Given the description of an element on the screen output the (x, y) to click on. 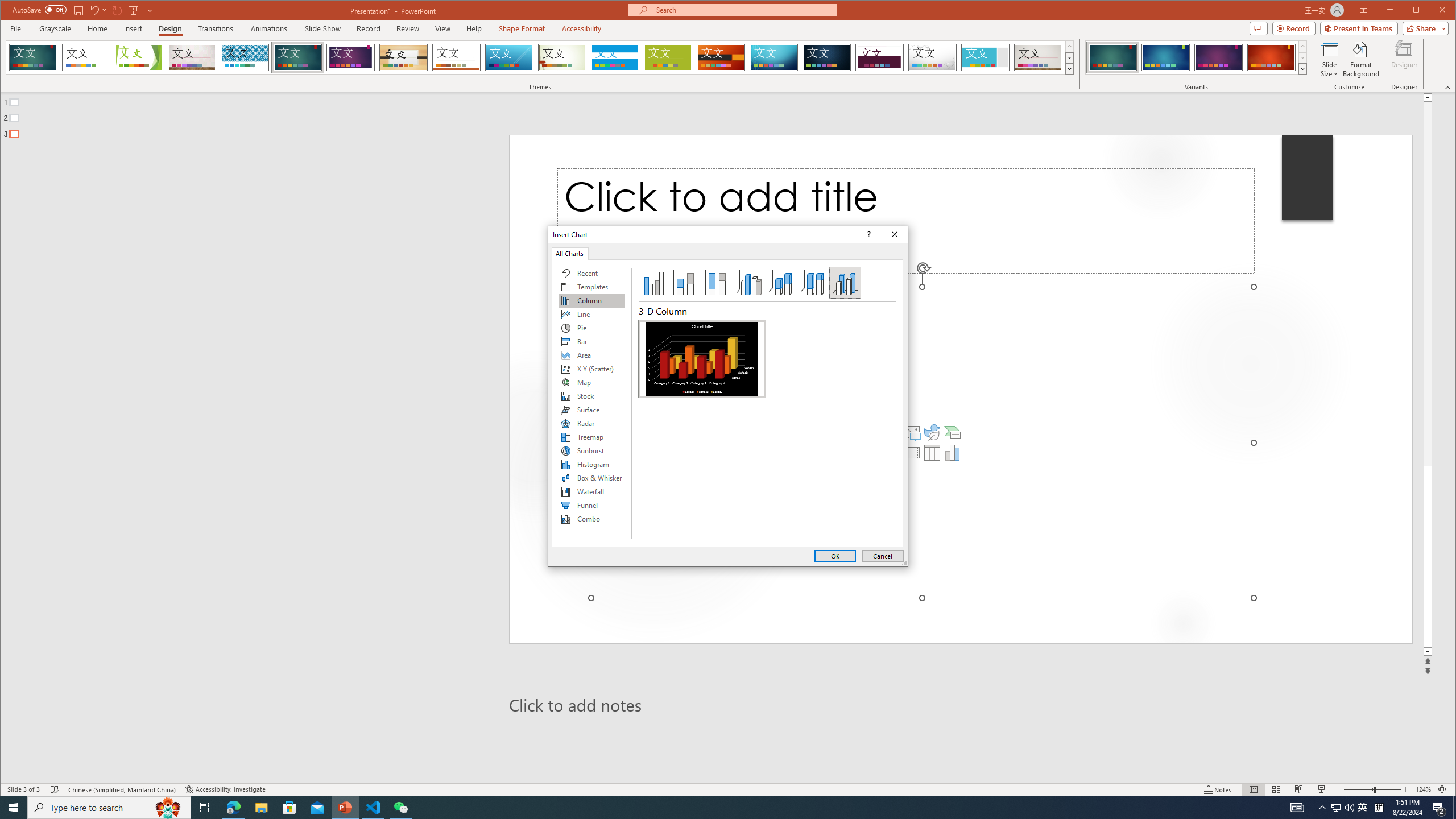
Circuit (773, 57)
3-D 100% Stacked Column (813, 282)
OK (834, 555)
Droplet (932, 57)
Column (591, 300)
Basis (668, 57)
Wisp (561, 57)
